Given the description of an element on the screen output the (x, y) to click on. 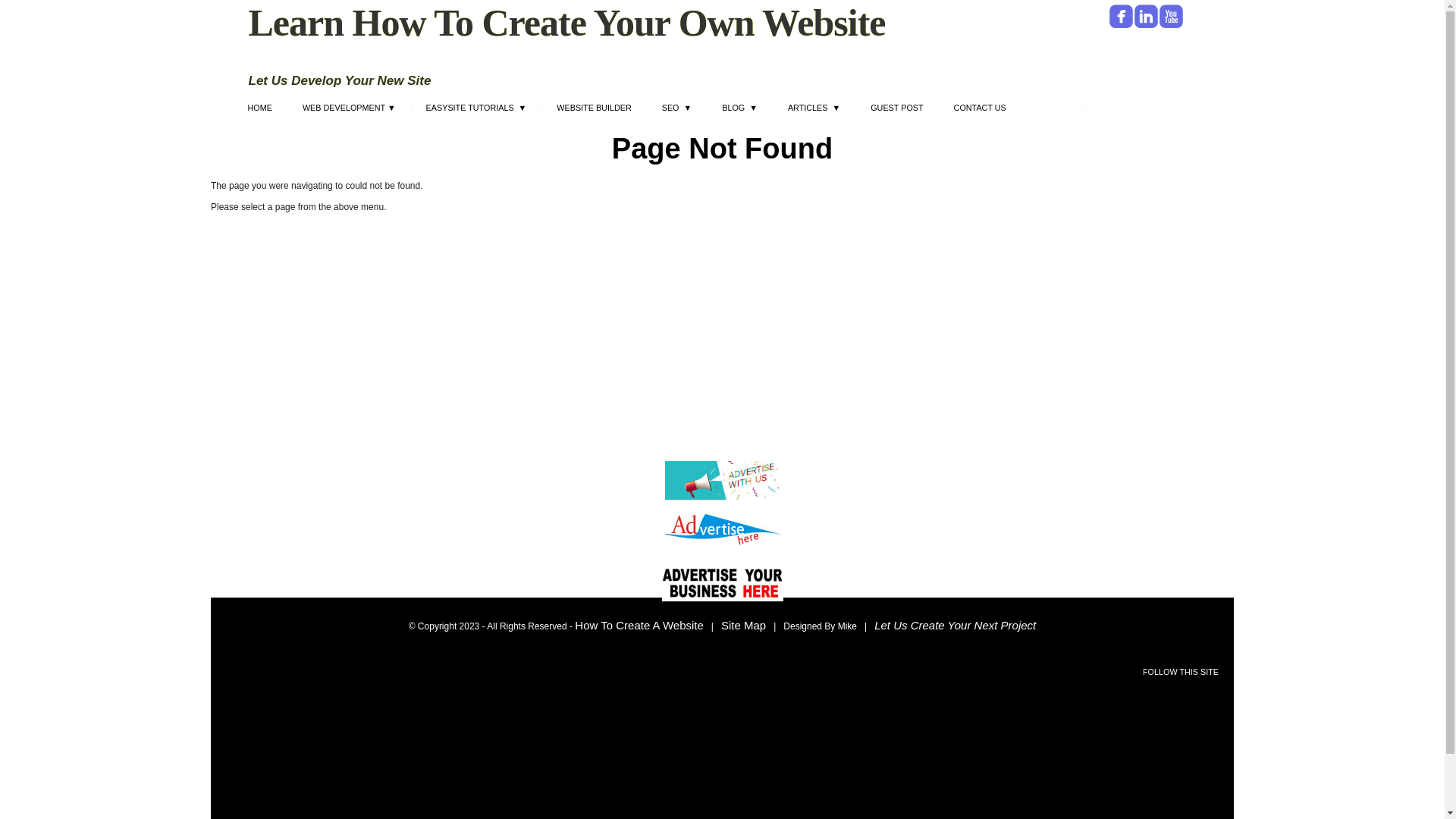
HOME Element type: text (259, 109)
ARTICLES  Element type: text (813, 109)
Site Map Element type: text (743, 624)
YouTube Element type: hover (1170, 16)
LinkedIn Element type: hover (1145, 16)
Facebook Element type: hover (1120, 16)
Let Us Create Your Next Project Element type: text (954, 624)
EASYSITE TUTORIALS  Element type: text (476, 109)
How To Create A Website Element type: text (638, 624)
SEO  Element type: text (676, 109)
CONTACT US Element type: text (979, 109)
WEB DEVELOPMENT Element type: text (349, 109)
FOLLOW THIS SITE Element type: text (1180, 671)
GUEST POST Element type: text (896, 109)
Learn How To Create Your Own Website Element type: text (566, 22)
WEBSITE BUILDER Element type: text (593, 109)
BLOG  Element type: text (739, 109)
Have your advert here. Contact us to find out more. Element type: hover (721, 583)
